Given the description of an element on the screen output the (x, y) to click on. 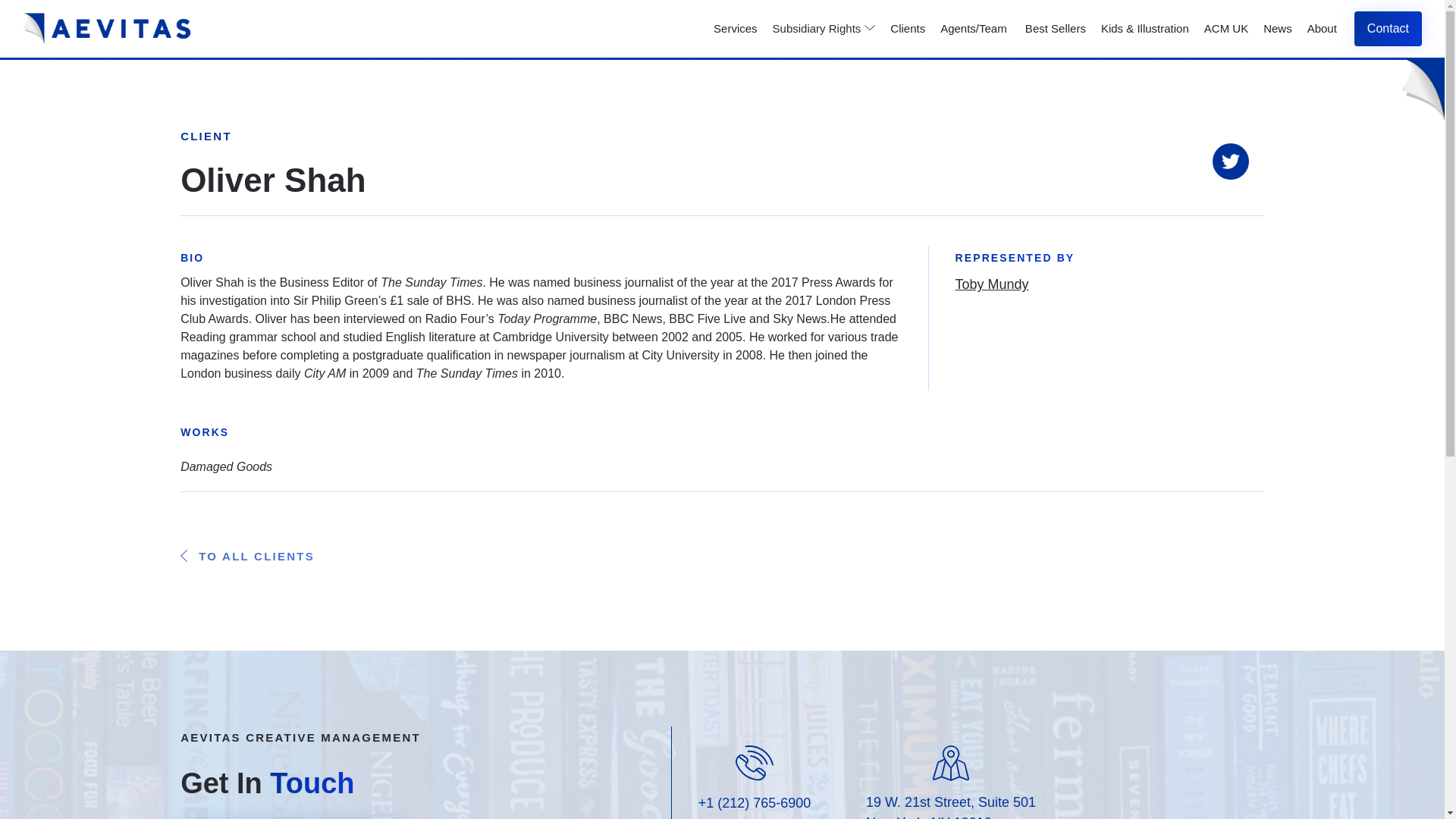
News (1277, 29)
Clients (907, 29)
ACM UK (1225, 29)
Services (735, 29)
Contact (1388, 28)
About (1321, 29)
Damaged Goods (226, 466)
 Best Sellers (1053, 29)
Toby Mundy (992, 283)
TO ALL CLIENTS (247, 556)
